Given the description of an element on the screen output the (x, y) to click on. 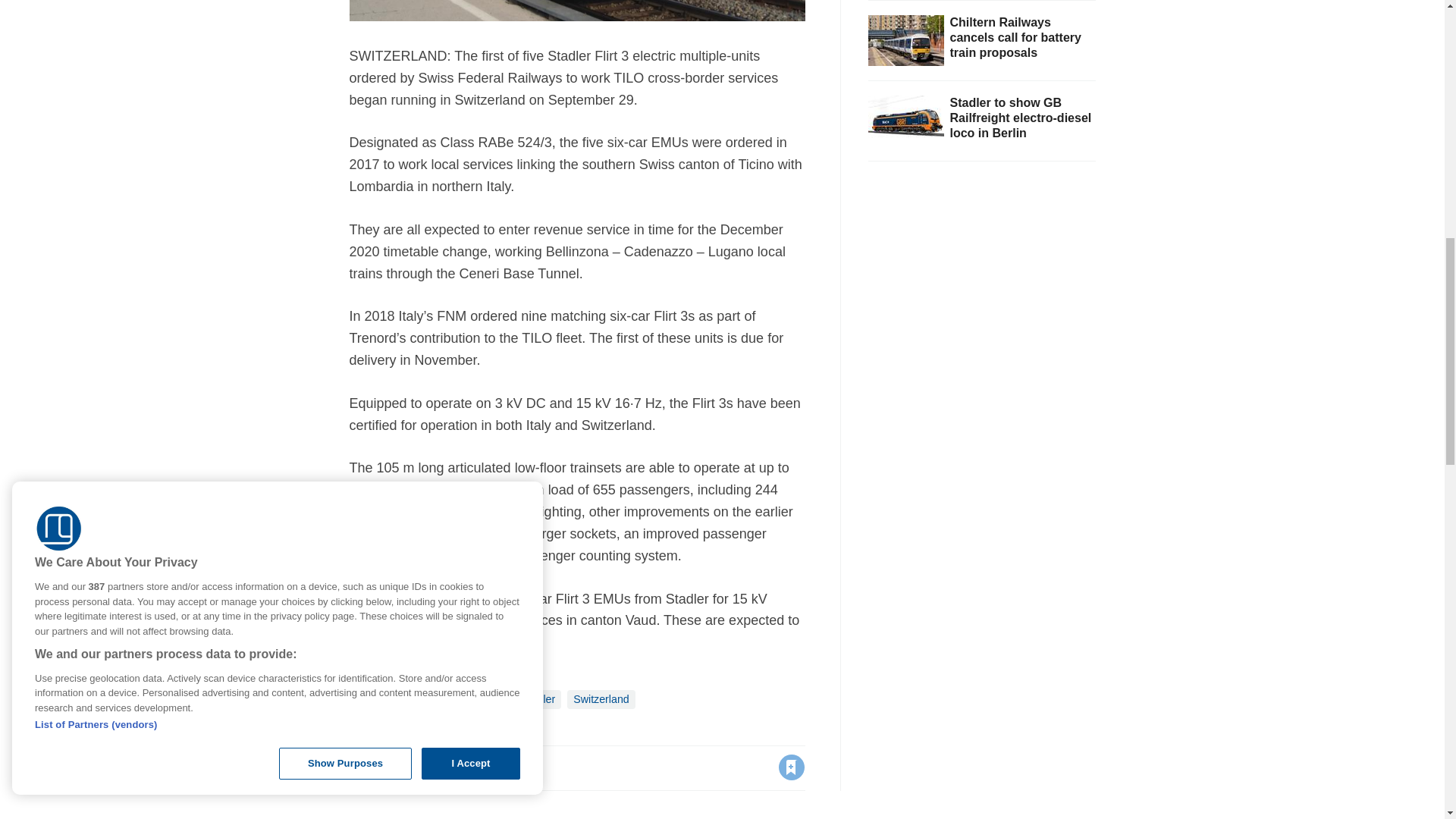
Share this on Facebook (362, 767)
Share this on Linked in (427, 767)
Share this on Twitter (395, 767)
Email this article (460, 767)
